Given the description of an element on the screen output the (x, y) to click on. 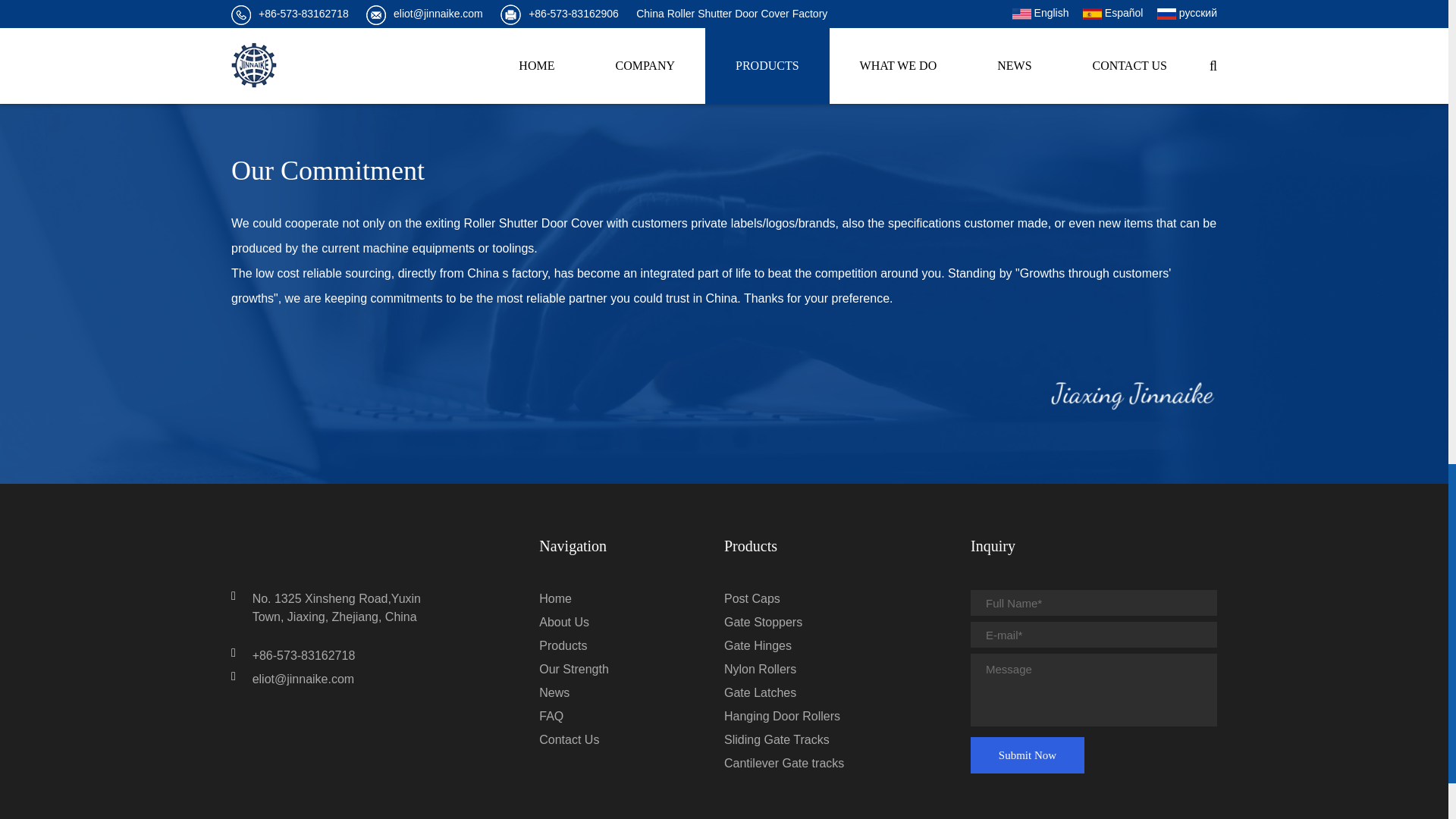
Submit Now (1027, 755)
